Given the description of an element on the screen output the (x, y) to click on. 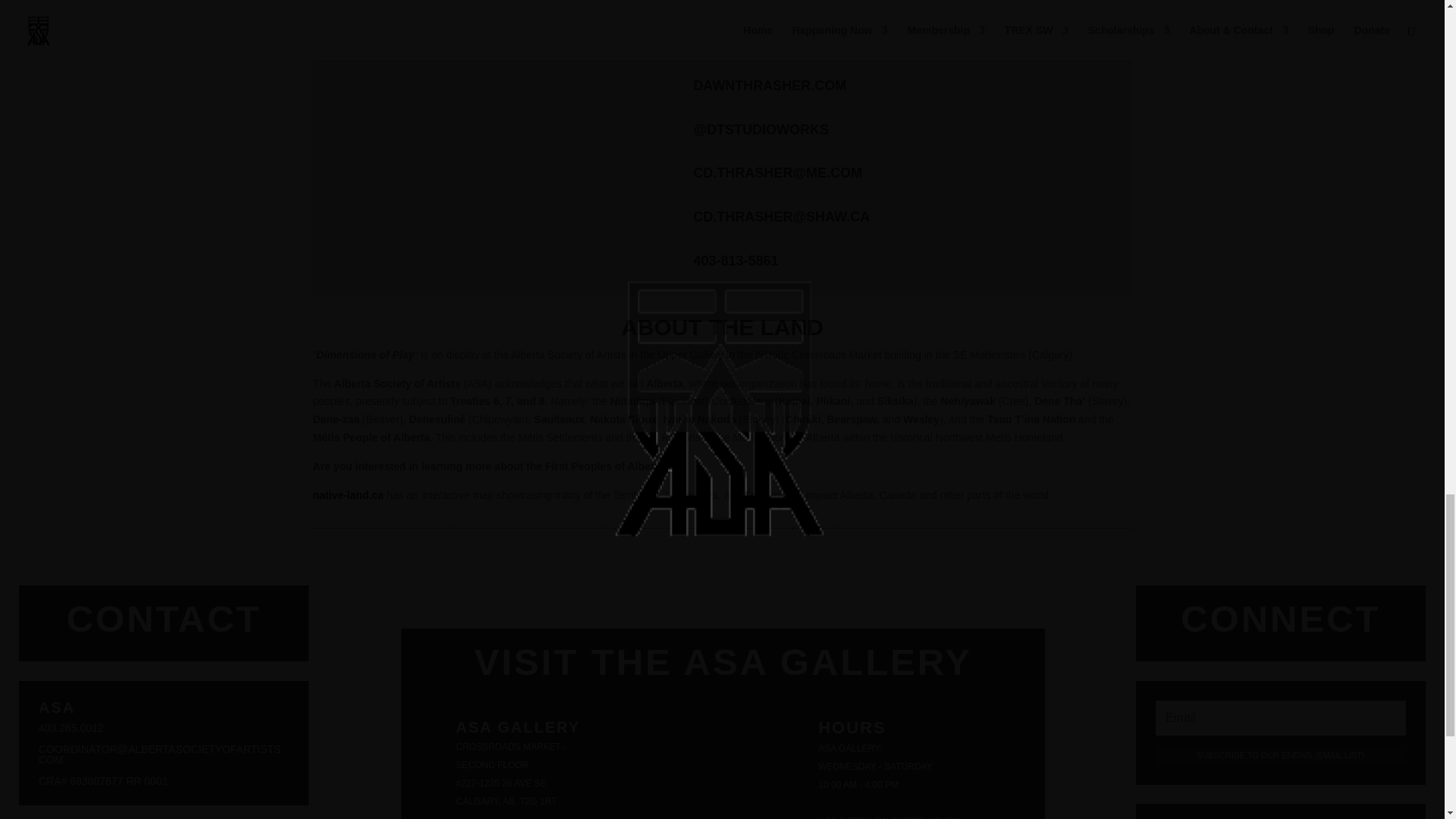
HERE. (1029, 46)
DAWNTHRASHER.COM (769, 85)
403-813-5861 (735, 260)
